Given the description of an element on the screen output the (x, y) to click on. 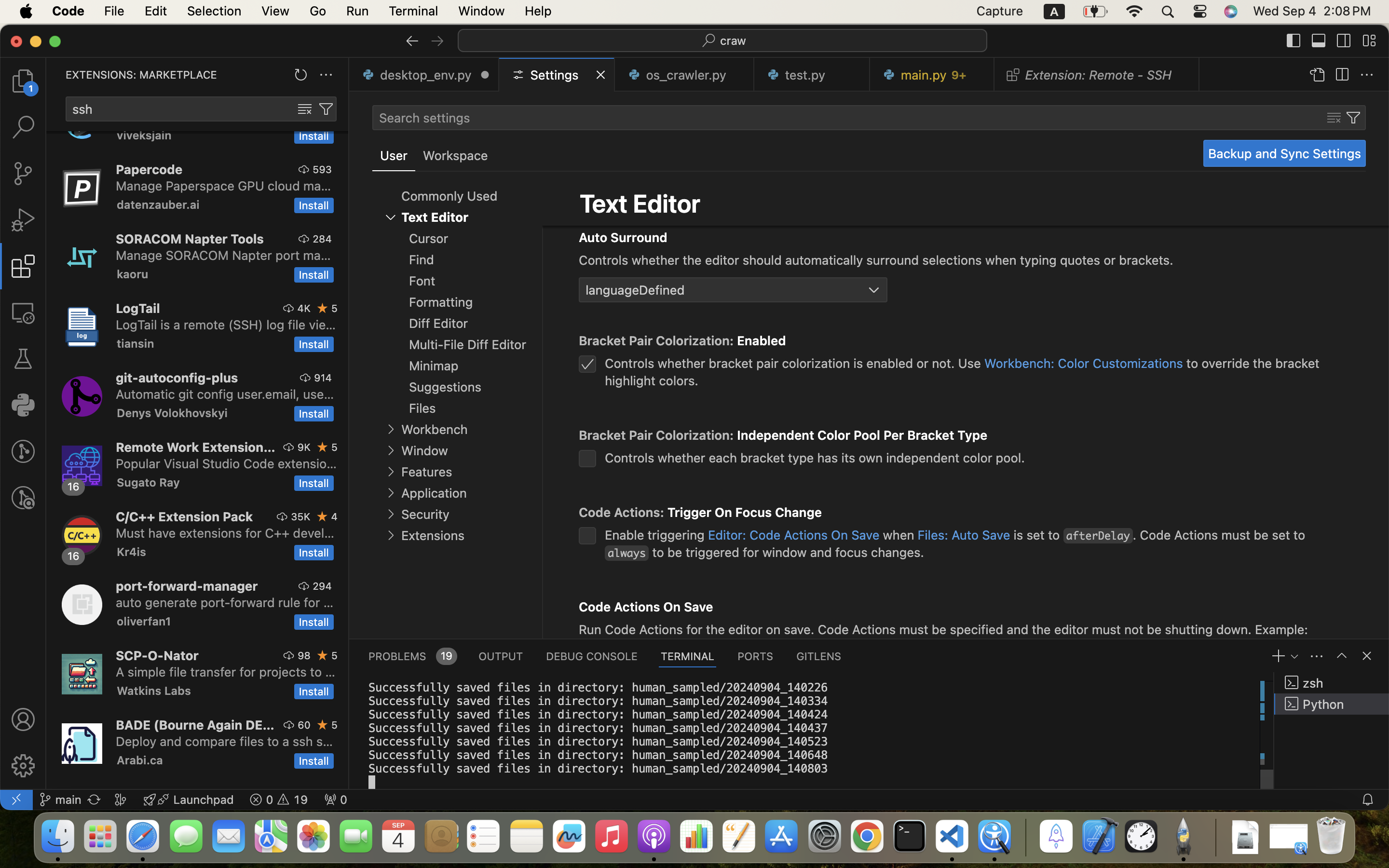
Arabi.ca Element type: AXStaticText (139, 759)
1 Settings   Element type: AXRadioButton (557, 74)
593 Element type: AXStaticText (321, 168)
Workbench Element type: AXStaticText (434, 429)
afterDelay Element type: AXStaticText (1097, 535)
